Given the description of an element on the screen output the (x, y) to click on. 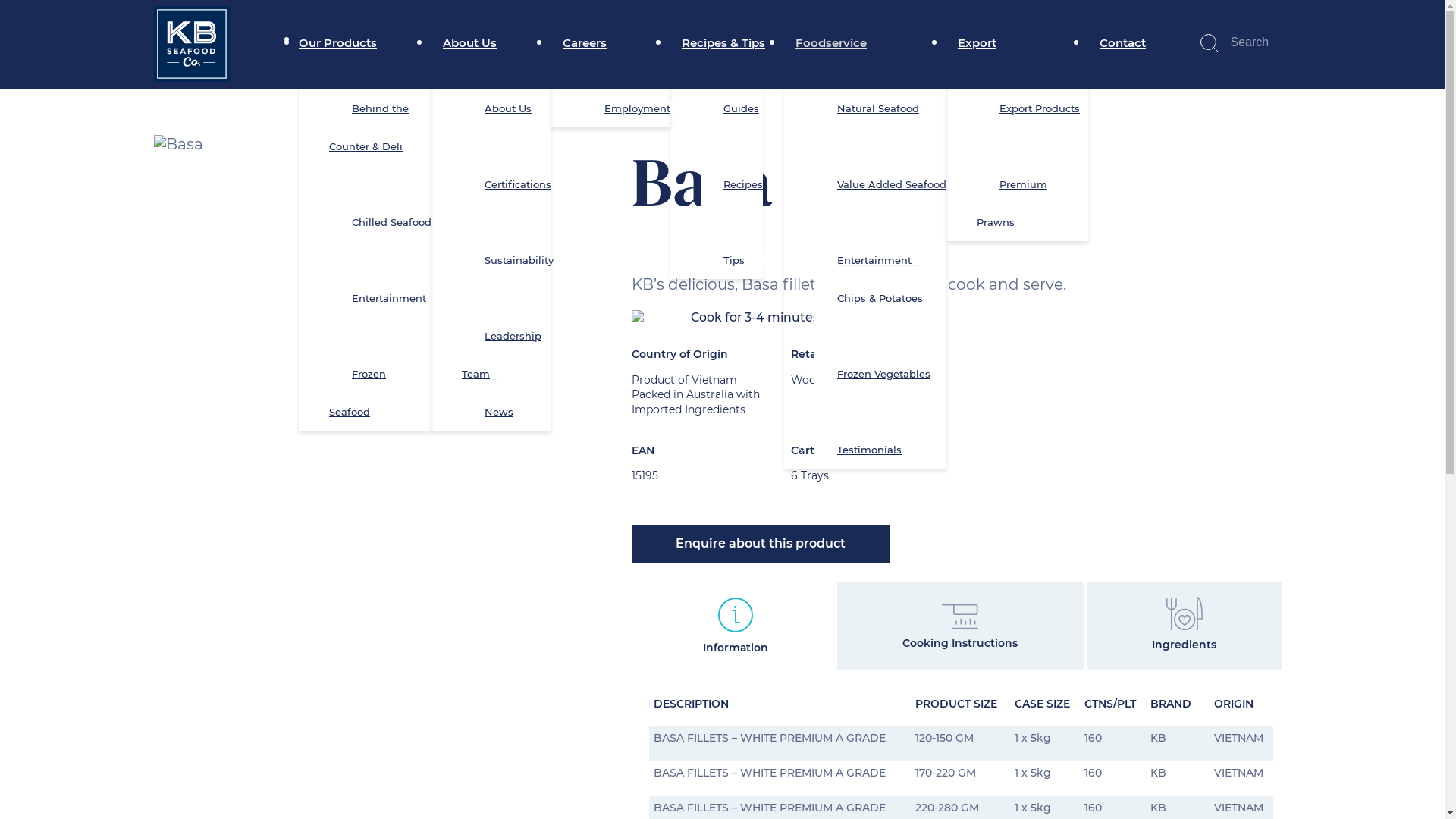
Our Products Element type: text (346, 42)
Frozen Vegetables Element type: text (872, 392)
Careers Element type: text (588, 42)
Enquire about this product Element type: text (759, 543)
News Element type: text (502, 411)
Leadership Team Element type: text (501, 354)
About Us Element type: text (496, 127)
Frozen Seafood Element type: text (364, 392)
Tips Element type: text (737, 260)
Guides Element type: text (729, 127)
Natural Seafood Element type: text (866, 127)
Employment Element type: text (640, 108)
Contact Element type: text (1116, 42)
Foodservice Element type: text (834, 42)
Sustainability Element type: text (507, 279)
Entertainment Element type: text (877, 260)
Value Added Seafood Element type: text (880, 203)
Recipes Element type: text (731, 203)
Premium Prawns Element type: text (1011, 203)
Ingredients Element type: text (1183, 633)
Export Products Element type: text (1027, 127)
About Us Element type: text (473, 42)
Export Element type: text (980, 42)
Cooking Instructions Element type: text (960, 632)
Certifications Element type: text (506, 203)
Behind the Counter & Deli Element type: text (368, 146)
Chilled Seafood Element type: text (380, 241)
Recipes & Tips Element type: text (727, 42)
Entertainment Element type: text (377, 316)
Chips & Potatoes Element type: text (868, 316)
Information Element type: text (735, 636)
Testimonials Element type: text (872, 449)
